Given the description of an element on the screen output the (x, y) to click on. 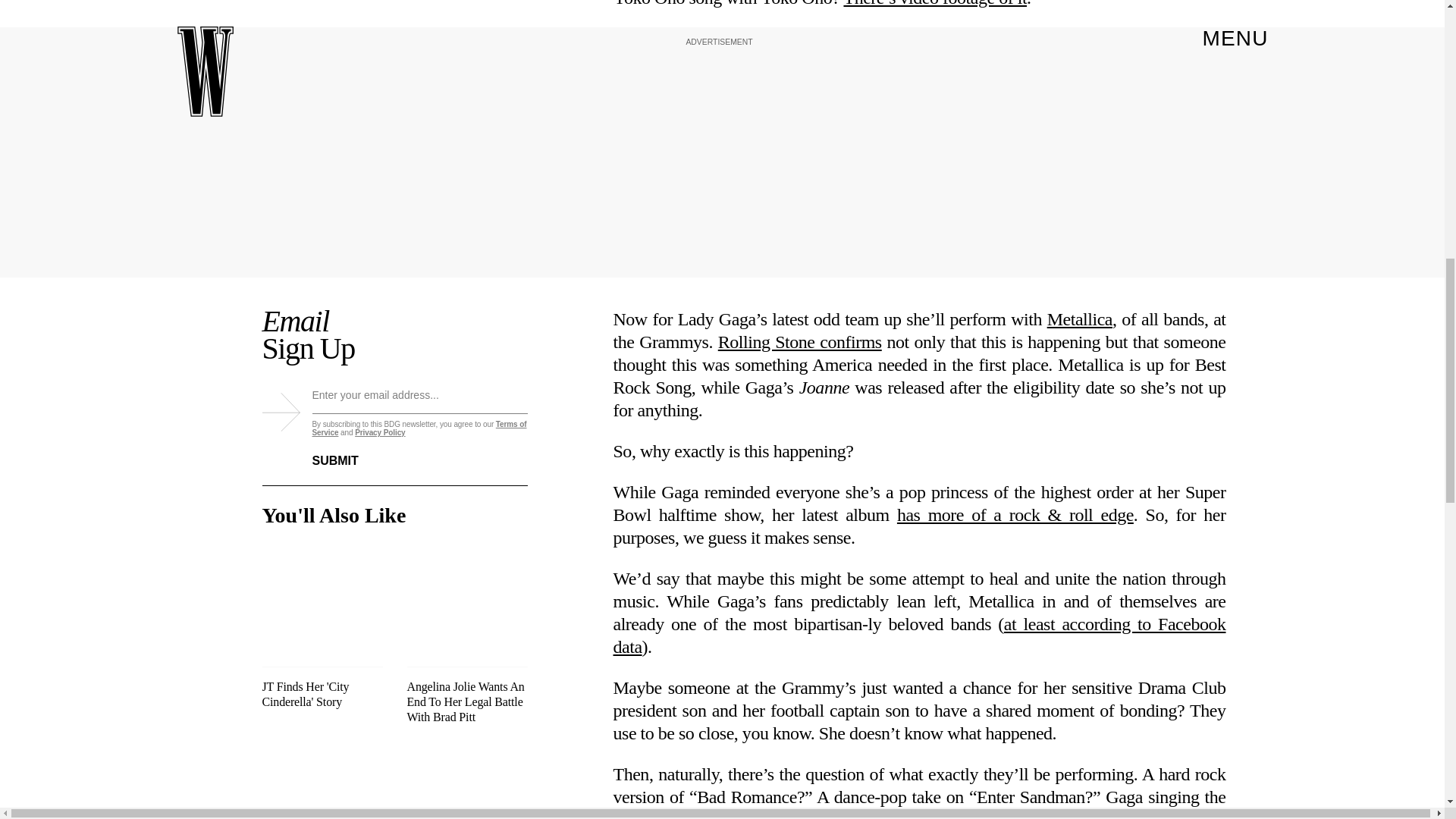
Rolling Stone confirms (799, 342)
at least according to Facebook data (918, 635)
SUBMIT (347, 451)
Metallica (1079, 319)
Privacy Policy (379, 432)
Terms of Service (420, 428)
